Given the description of an element on the screen output the (x, y) to click on. 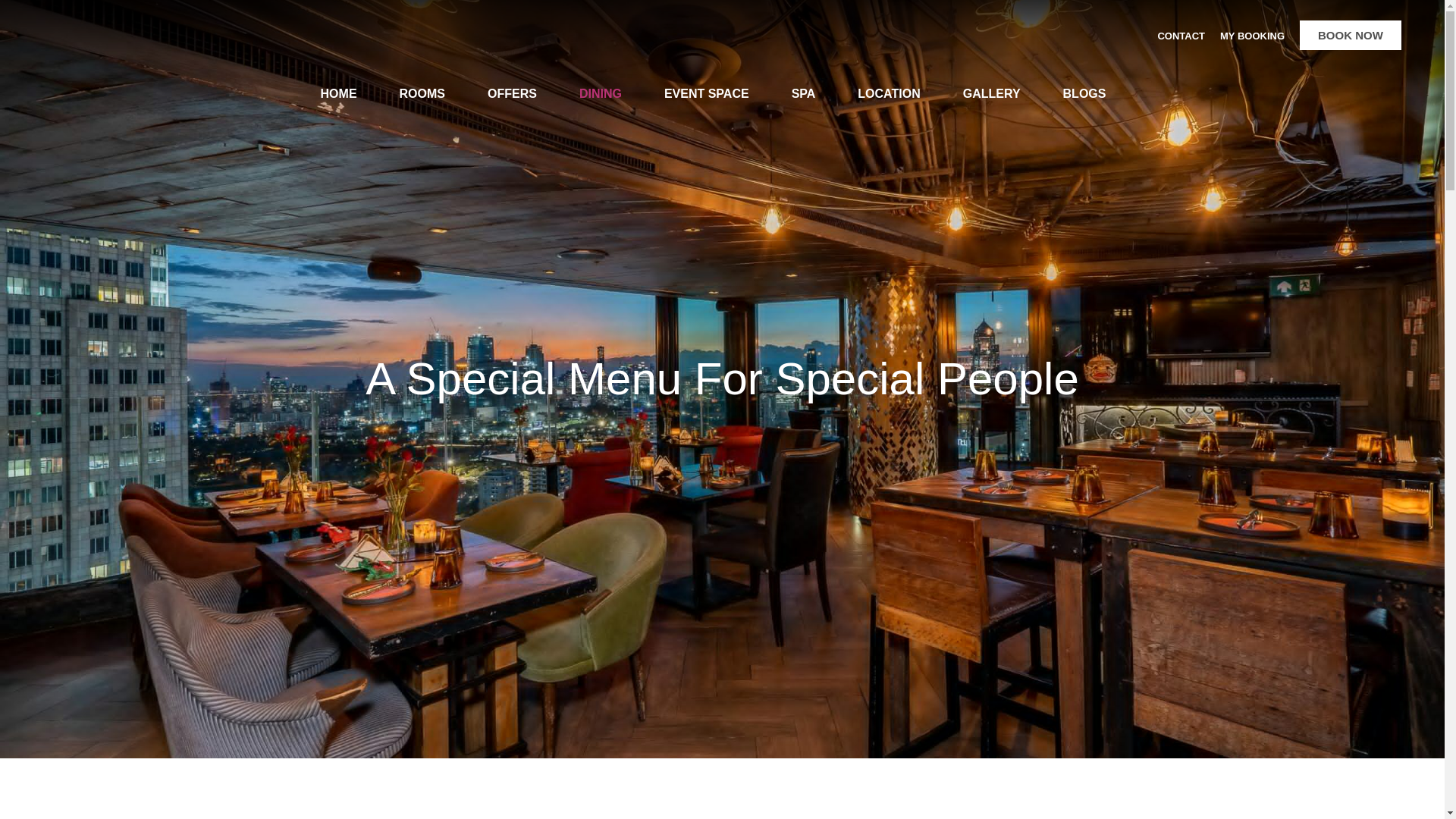
LOCATION (888, 93)
EVENT SPACE (706, 93)
GALLERY (991, 93)
ROOMS (422, 93)
HOME (338, 93)
BLOGS (1084, 93)
SPA (803, 93)
CONTACT (1181, 36)
MY BOOKING (1252, 36)
BOOK NOW (1350, 34)
